Given the description of an element on the screen output the (x, y) to click on. 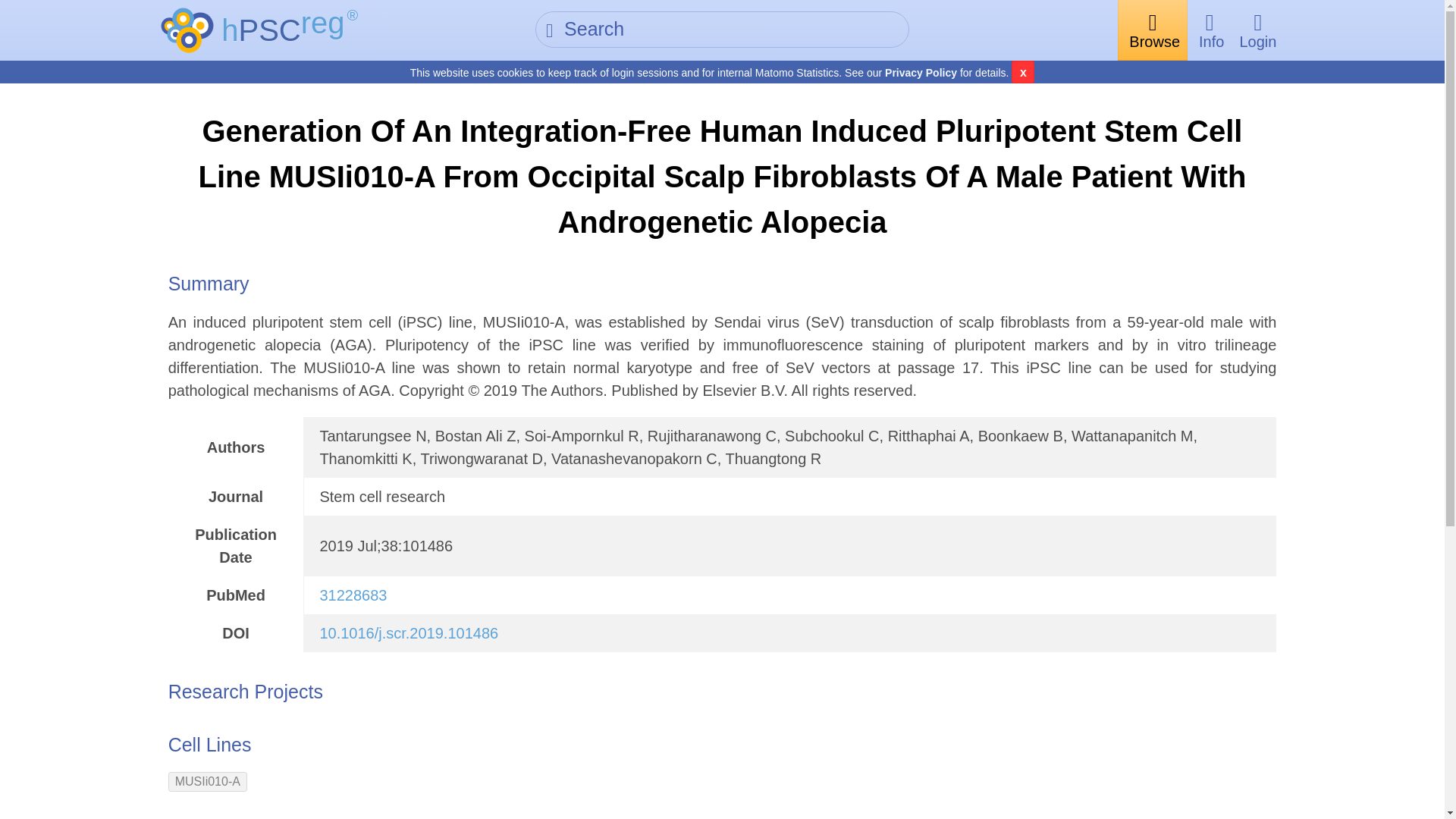
Privacy Policy (920, 72)
Human Pluripotent Stem Cell Registry (289, 29)
Browse (1153, 30)
x (1022, 71)
31228683 (352, 595)
